Given the description of an element on the screen output the (x, y) to click on. 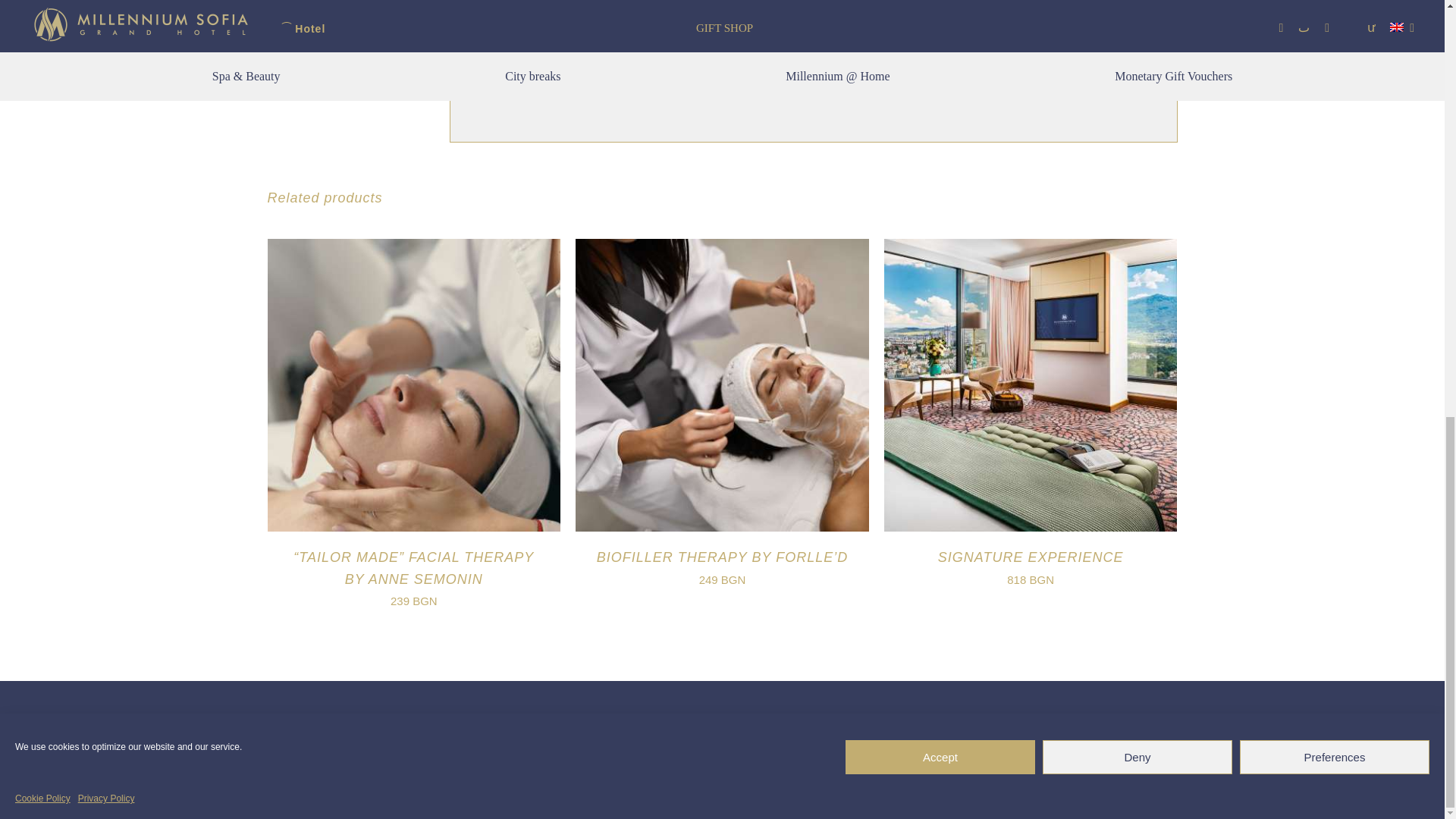
Preferences (1334, 314)
Deny (1136, 314)
Cookie Policy (41, 355)
Accept (940, 314)
Privacy Policy (106, 355)
